Given the description of an element on the screen output the (x, y) to click on. 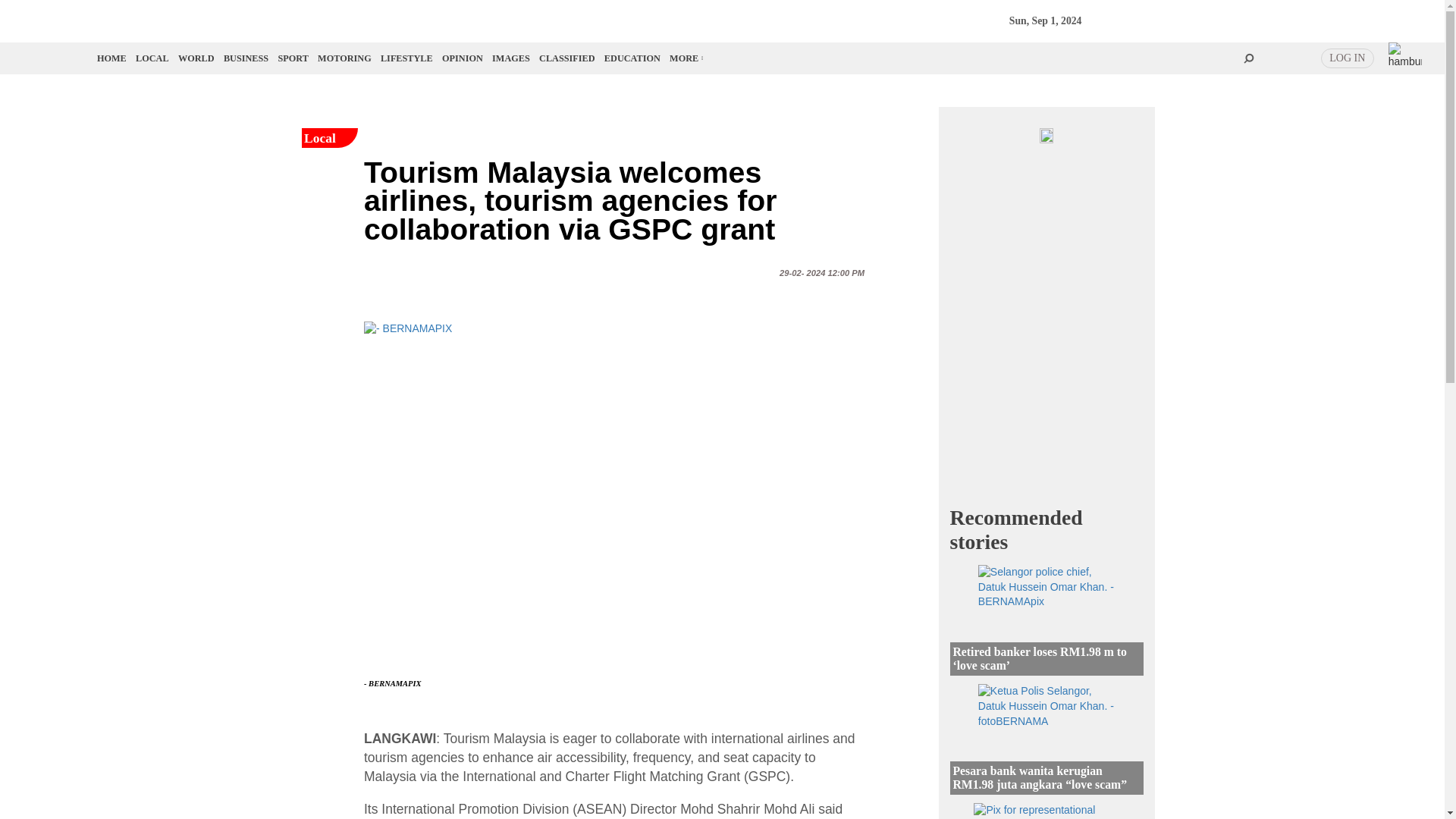
Home (111, 57)
CLASSIFIED (566, 57)
Business (245, 57)
OPINION (462, 57)
World (195, 57)
HOME (111, 57)
EDUCATION (632, 57)
MOTORING (344, 57)
LOG IN (1347, 57)
LOG IN (1347, 57)
